Given the description of an element on the screen output the (x, y) to click on. 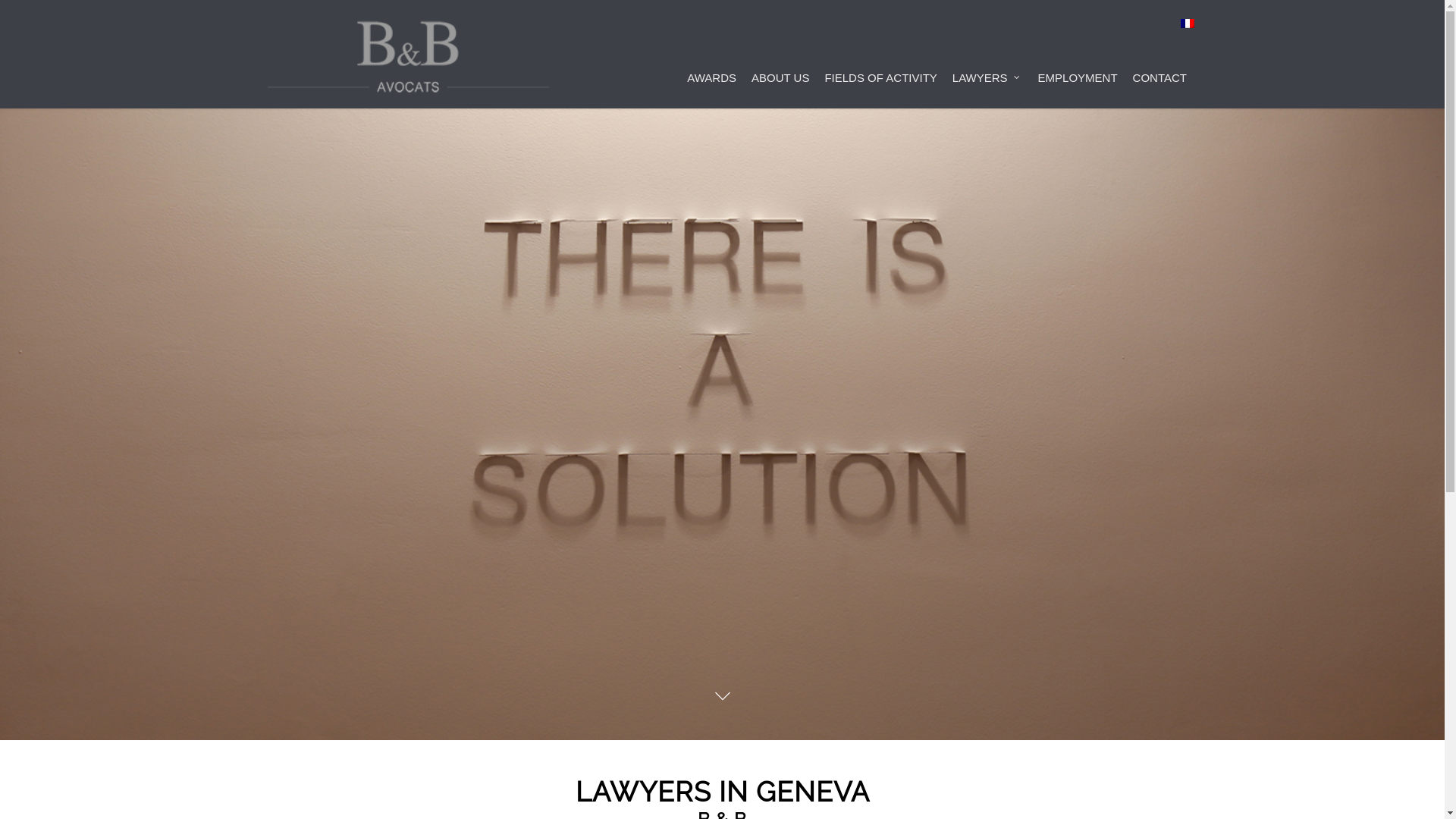
ABOUT US Element type: text (780, 54)
FIELDS OF ACTIVITY Element type: text (880, 54)
EMPLOYMENT Element type: text (1077, 54)
AWARDS Element type: text (711, 54)
LAWYERS Element type: text (987, 54)
CONTACT Element type: text (1159, 54)
